Given the description of an element on the screen output the (x, y) to click on. 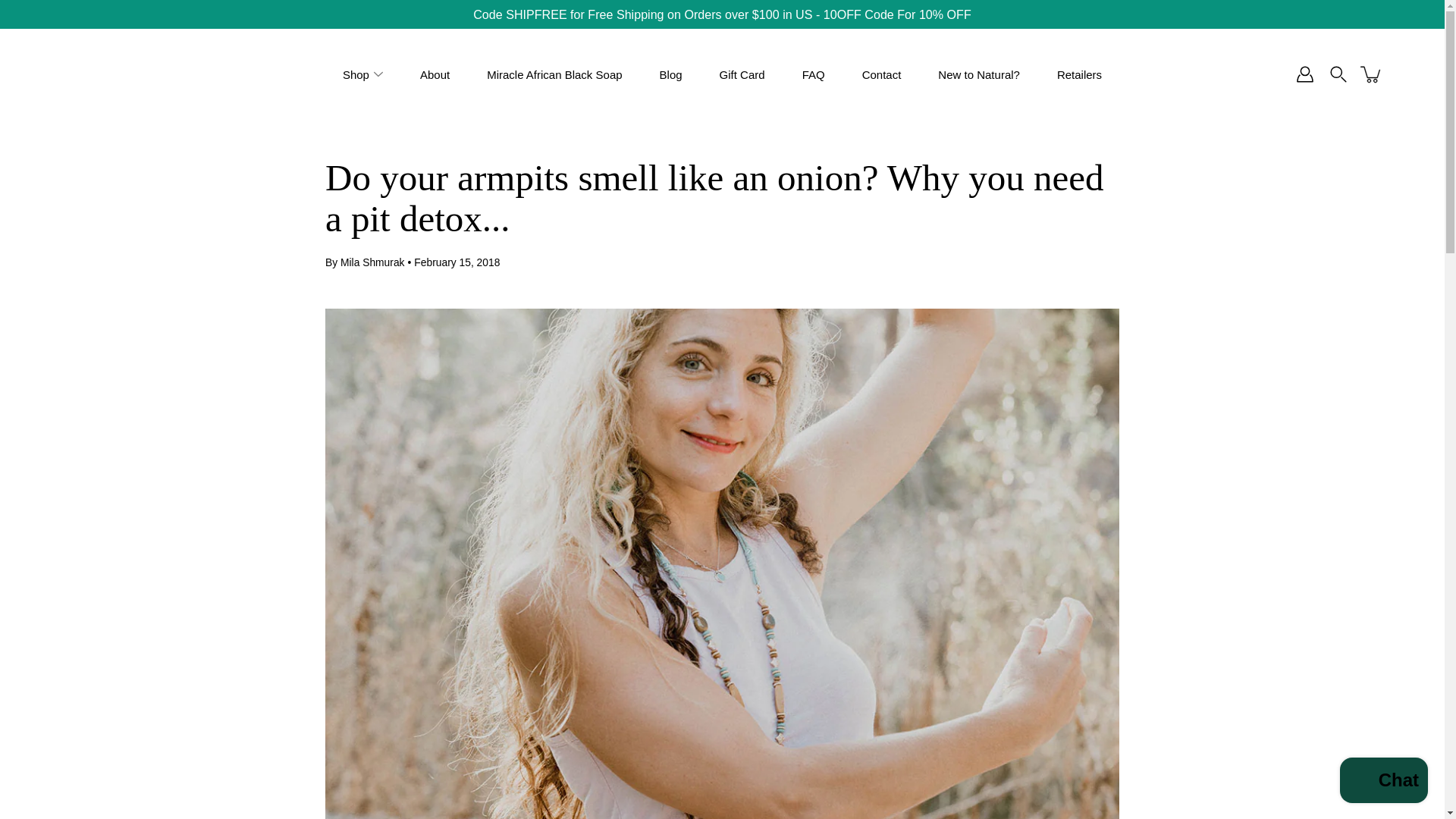
Shop (355, 74)
Shopify online store chat (1383, 781)
